Given the description of an element on the screen output the (x, y) to click on. 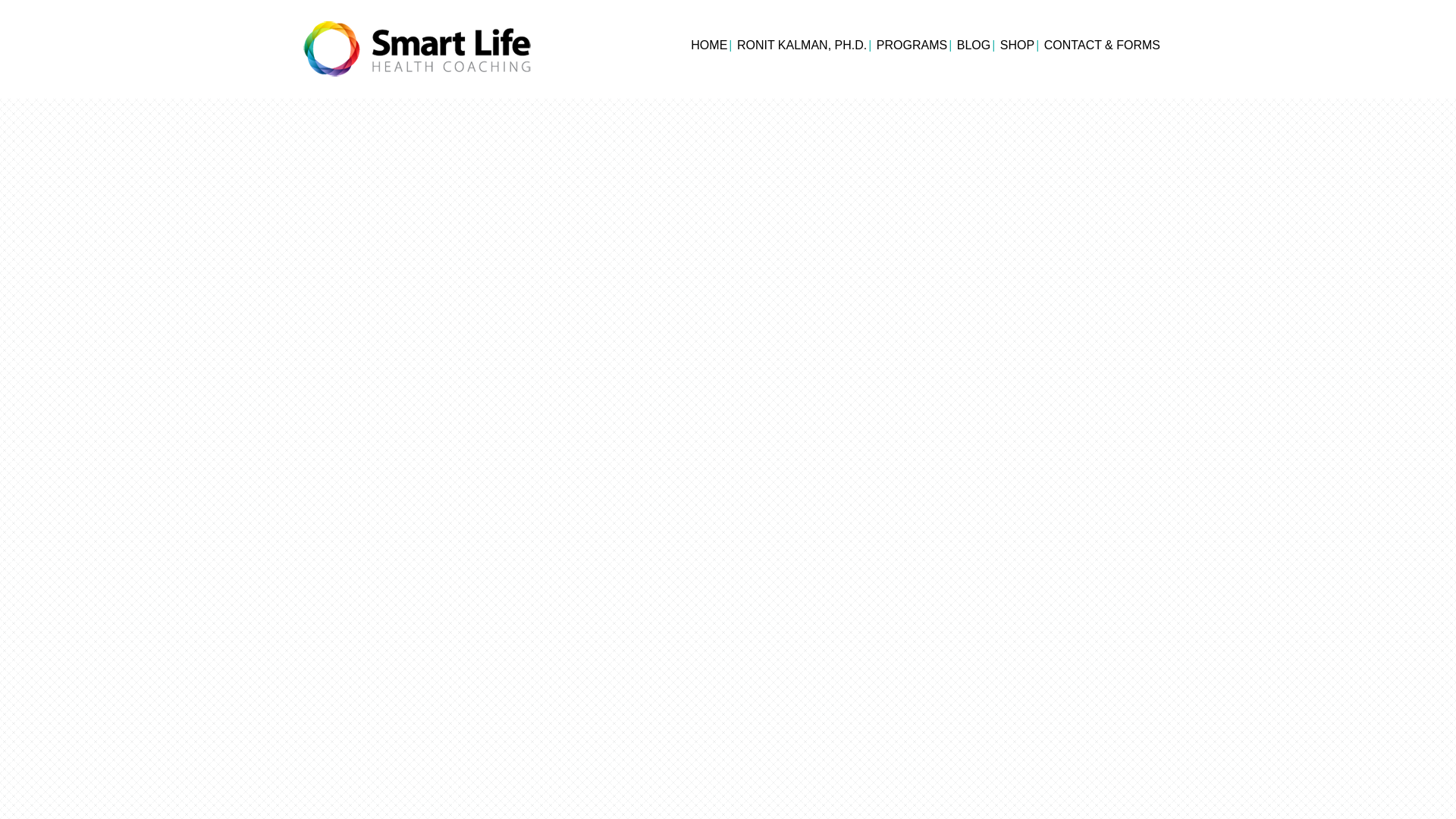
RONIT KALMAN, PH.D. (804, 45)
PROGRAMS (914, 45)
SMART LIFE HEALTH COACHING (416, 49)
